Given the description of an element on the screen output the (x, y) to click on. 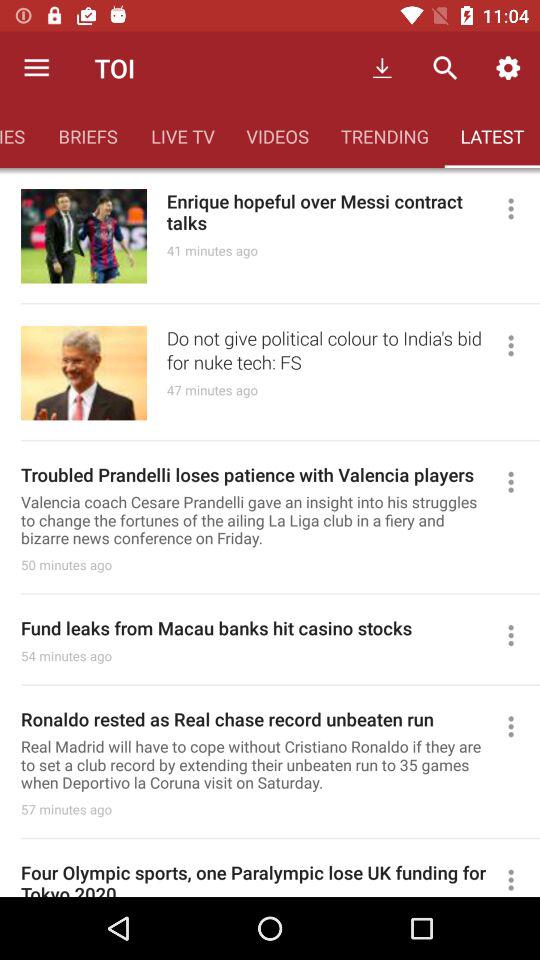
ellipsis article option (519, 345)
